Given the description of an element on the screen output the (x, y) to click on. 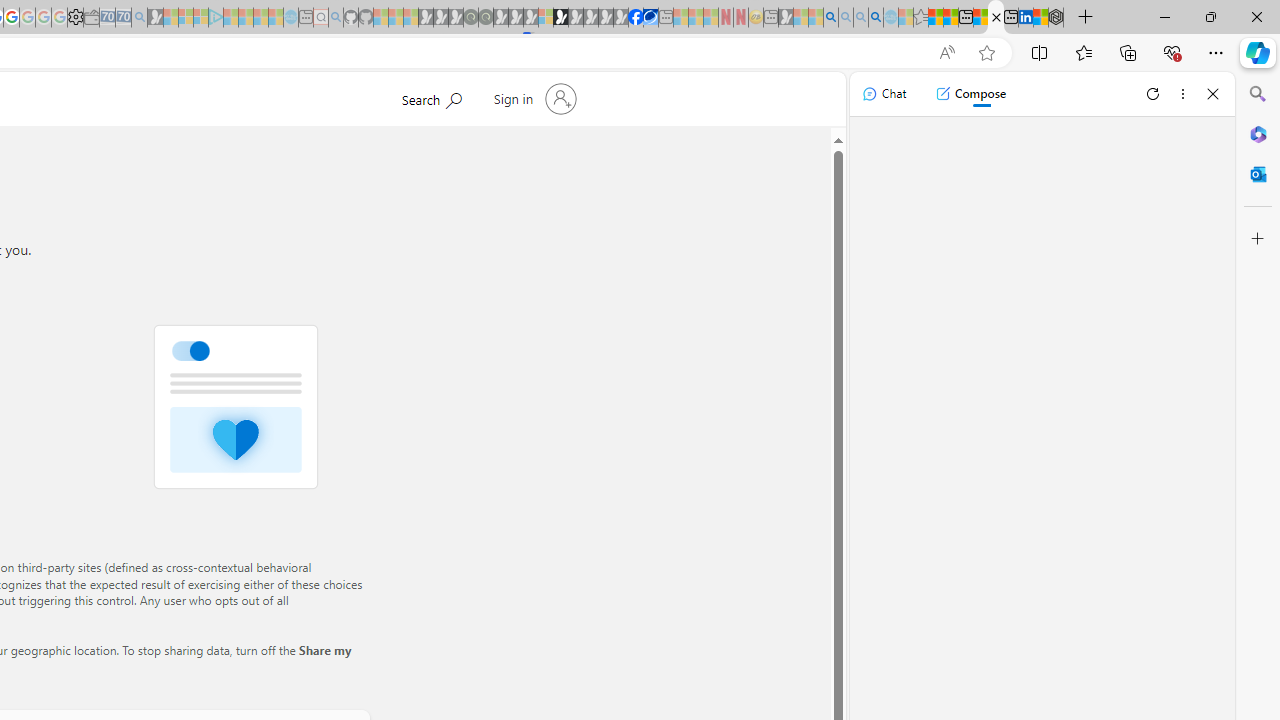
Google Chrome Internet Browser Download - Search Images (876, 17)
Aberdeen, Hong Kong SAR weather forecast | Microsoft Weather (950, 17)
